Given the description of an element on the screen output the (x, y) to click on. 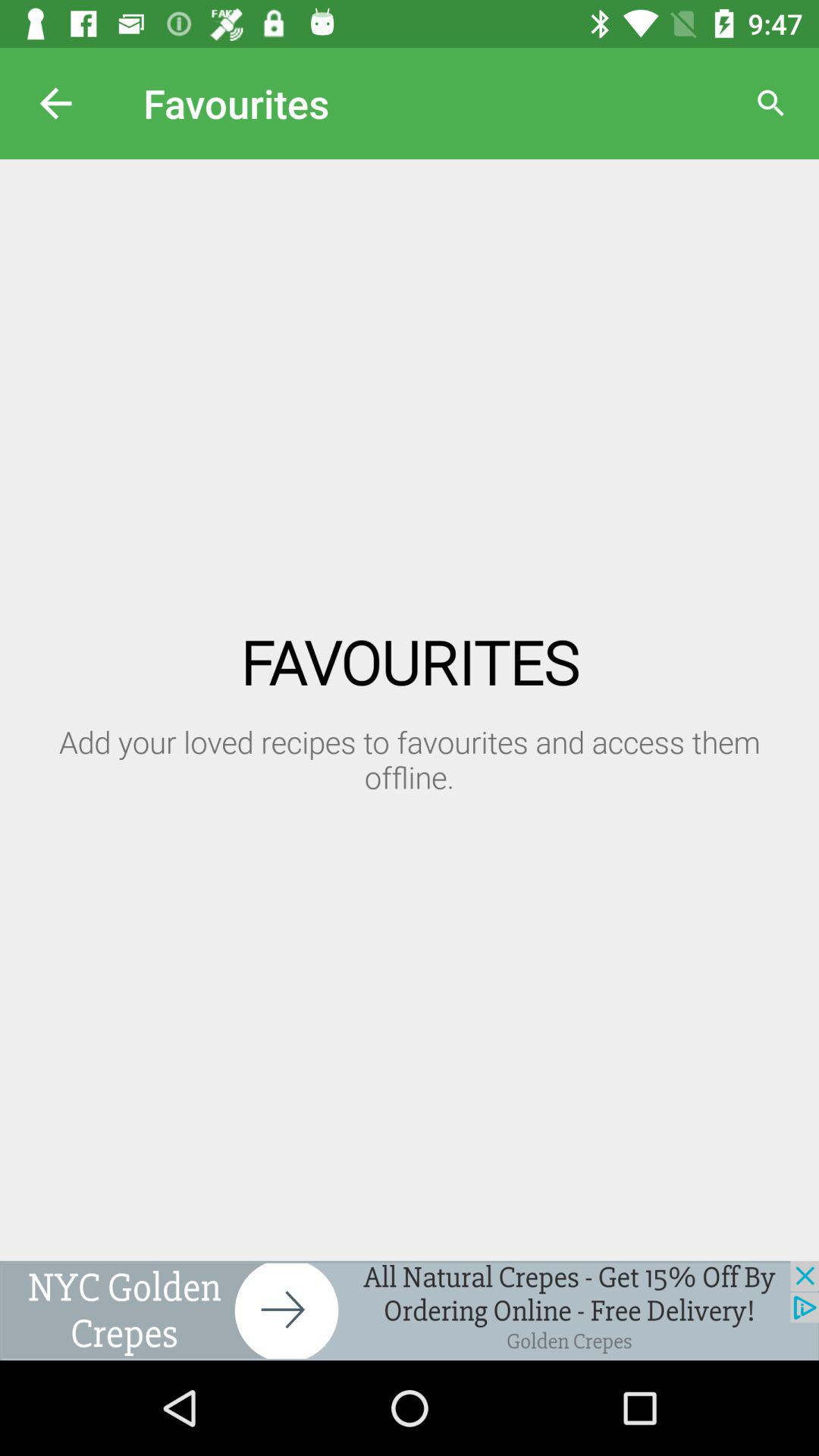
click on the search icon right next to favourites (771, 103)
